Given the description of an element on the screen output the (x, y) to click on. 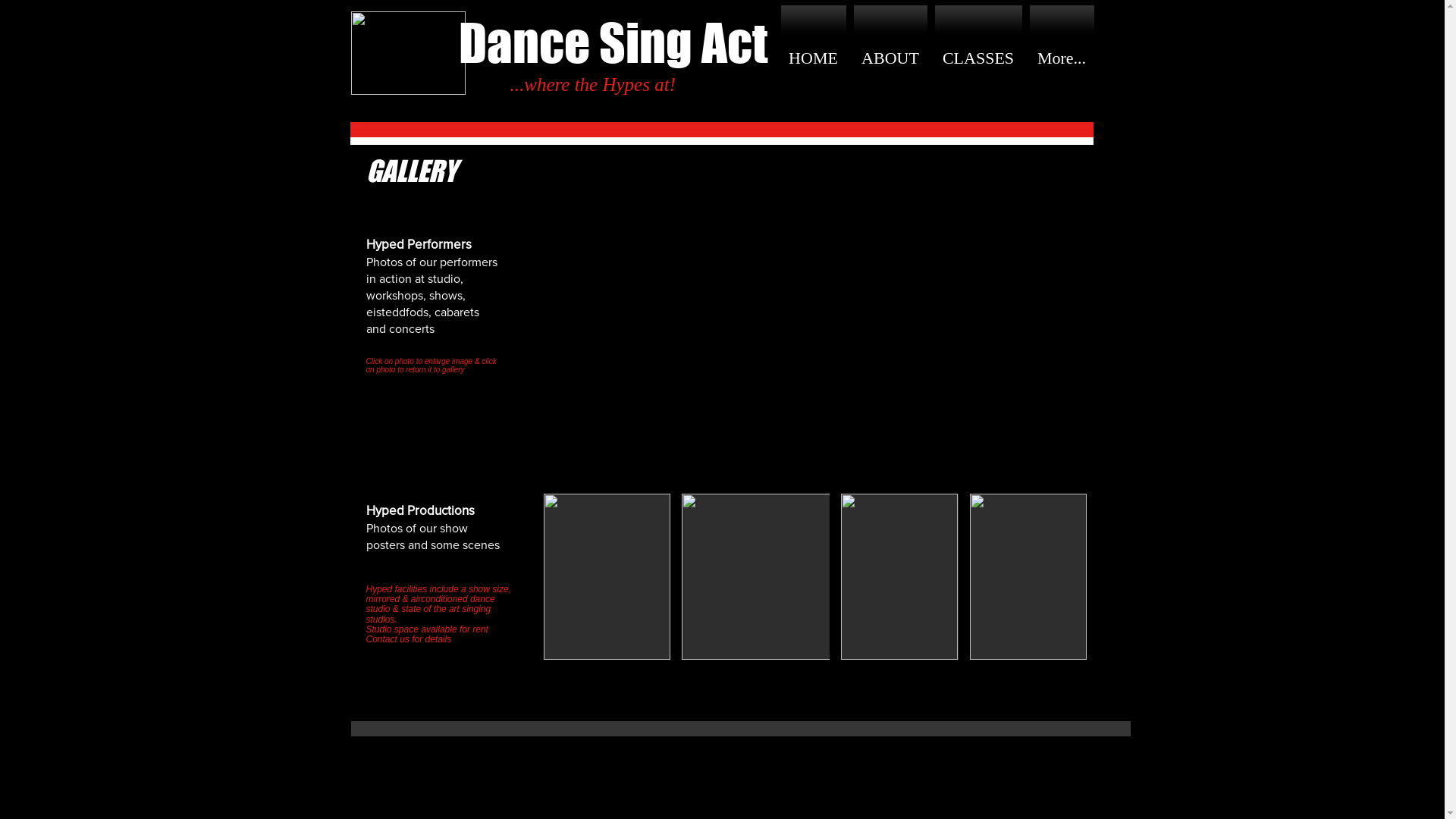
ABOUT Element type: text (889, 58)
HOME Element type: text (815, 58)
CLASSES Element type: text (978, 58)
